Given the description of an element on the screen output the (x, y) to click on. 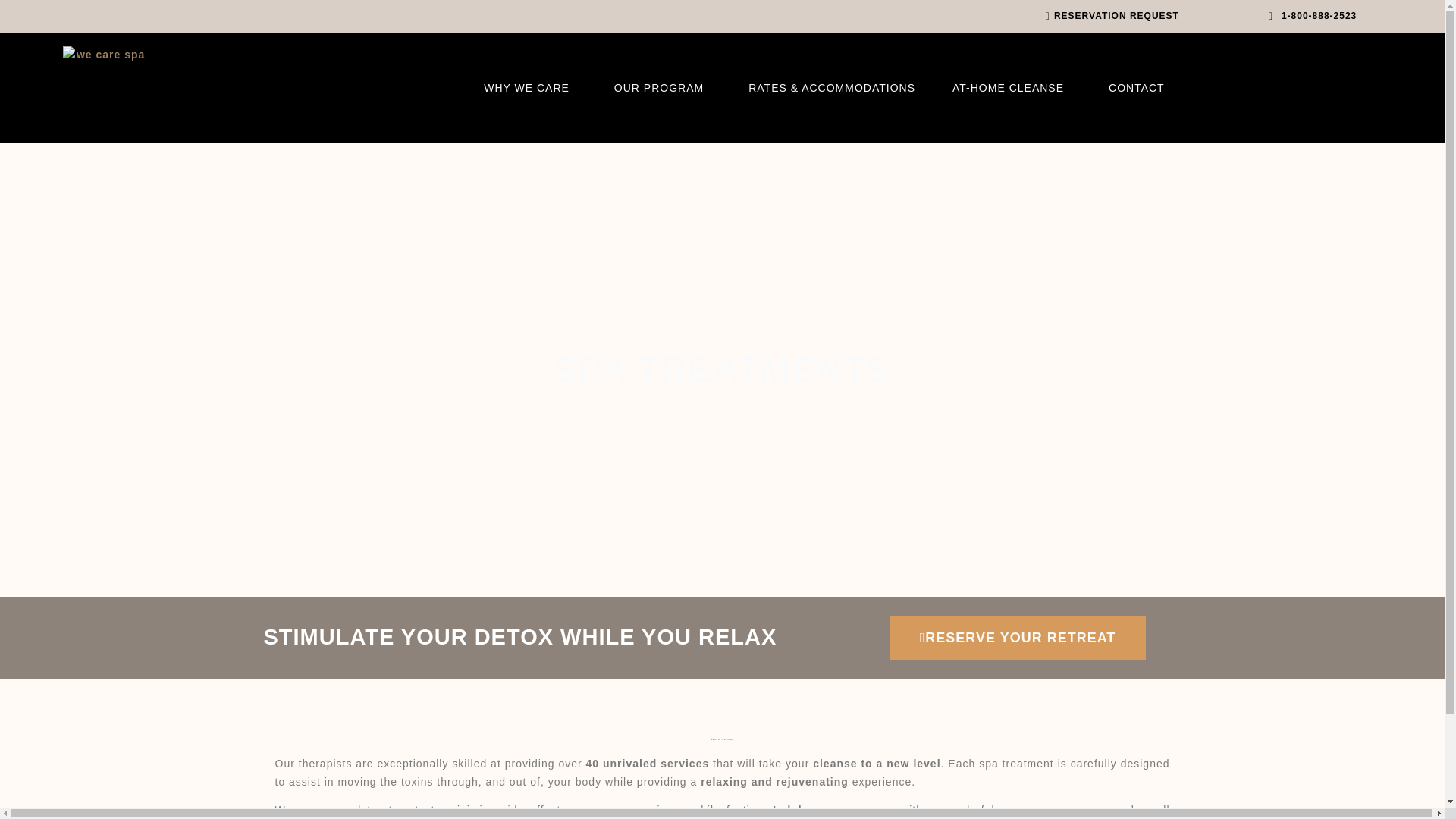
OUR PROGRAM (662, 87)
CONTACT (1136, 87)
RESERVATION REQUEST (593, 16)
1-800-888-2523 (1309, 16)
WHY WE CARE (529, 87)
AT-HOME CLEANSE (1011, 87)
